Given the description of an element on the screen output the (x, y) to click on. 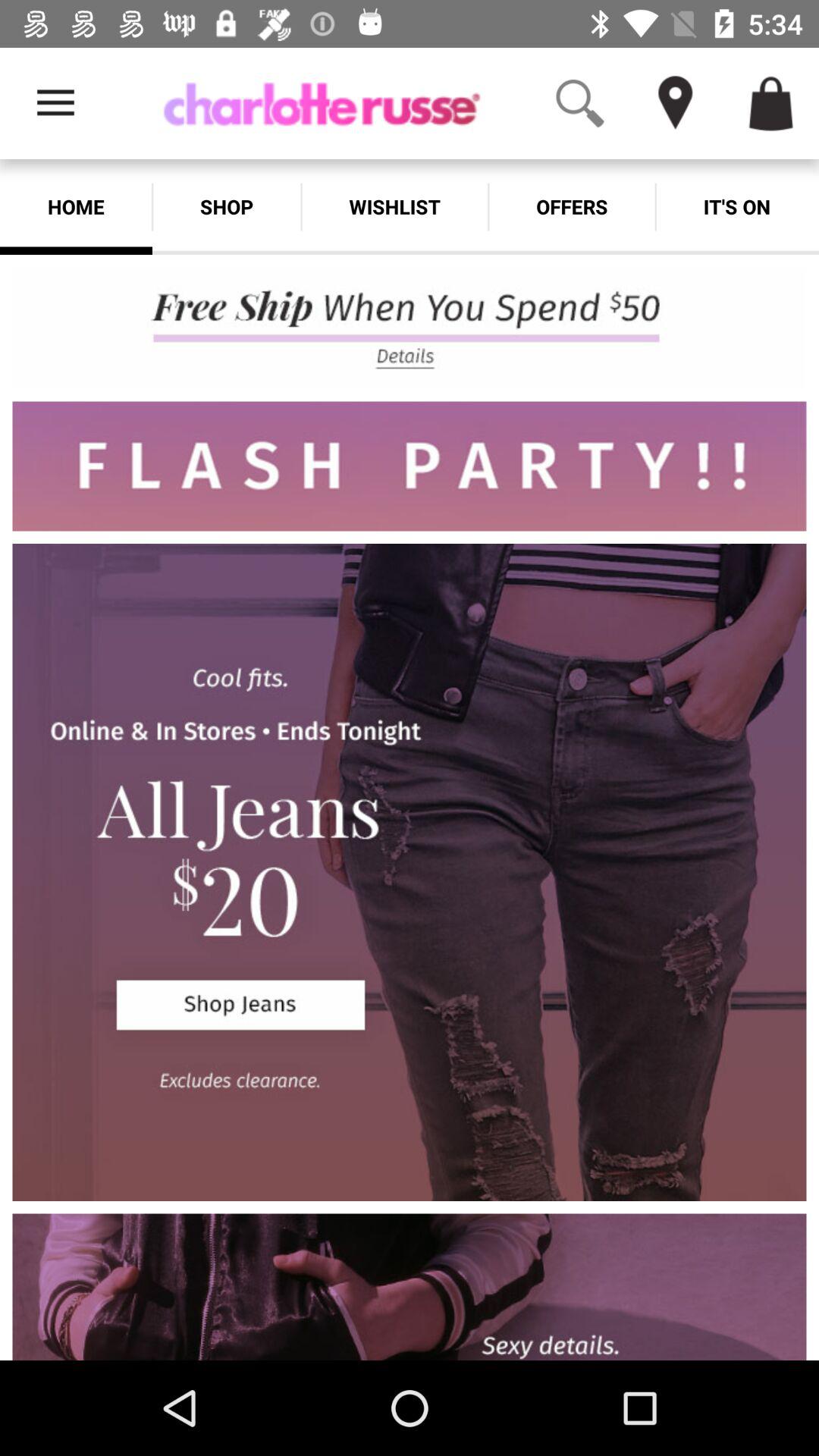
choose item to the right of offers item (736, 206)
